Given the description of an element on the screen output the (x, y) to click on. 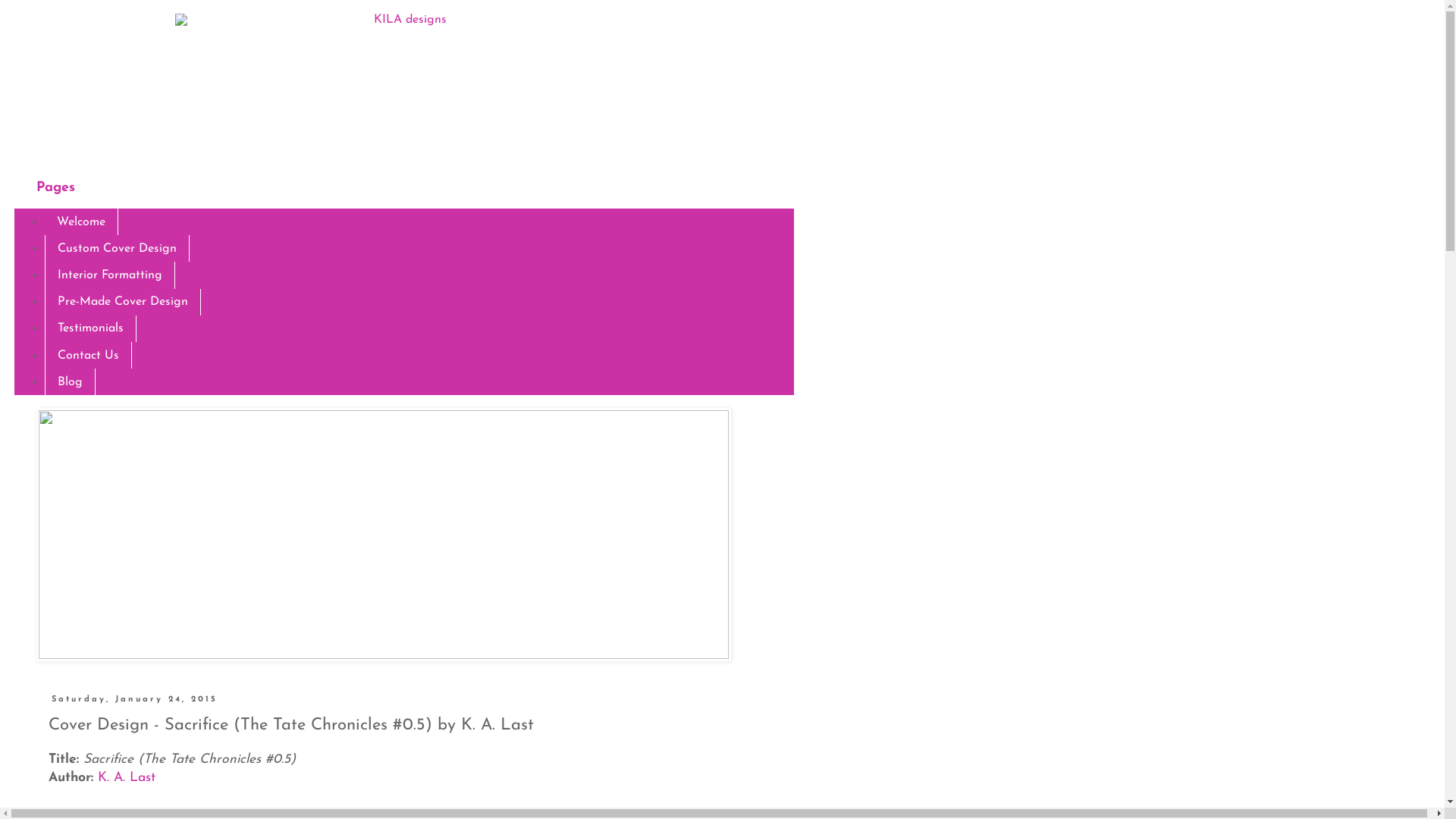
Custom Cover Design Element type: text (116, 248)
Pre-Made Cover Design Element type: text (122, 301)
Interior Formatting Element type: text (109, 274)
Blog Element type: text (69, 381)
Contact Us Element type: text (87, 355)
Testimonials Element type: text (90, 328)
K. A. Last Element type: text (126, 777)
Welcome Element type: text (81, 221)
